Given the description of an element on the screen output the (x, y) to click on. 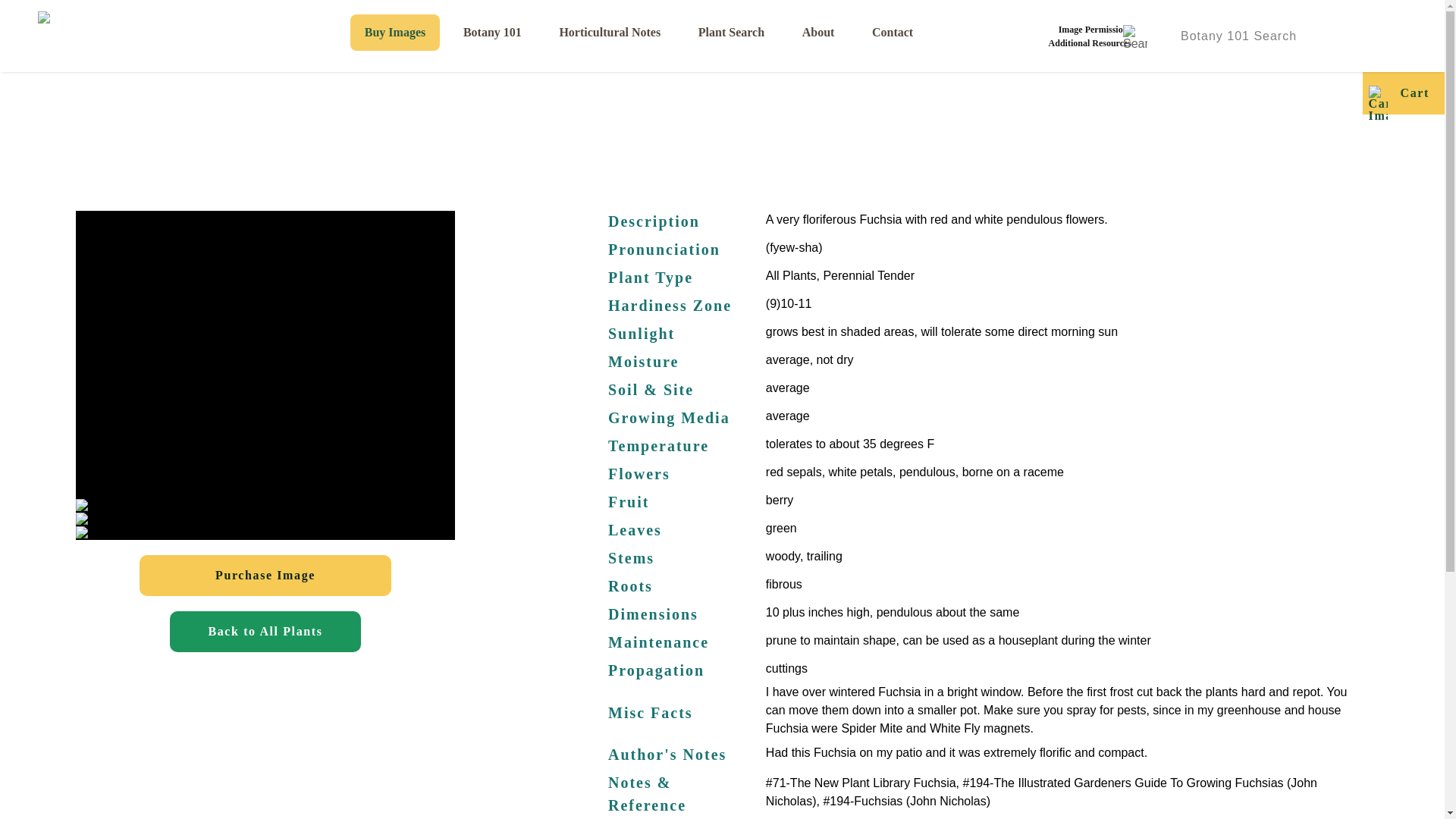
Additional Resources (1089, 42)
Buy Images (395, 32)
Horticultural Notes (609, 32)
Contact (892, 32)
Purchase Image (265, 575)
Image Permissions (1089, 29)
Back to All Plants (264, 630)
About (817, 32)
Plant Search (731, 32)
Botany 101 (491, 32)
